Given the description of an element on the screen output the (x, y) to click on. 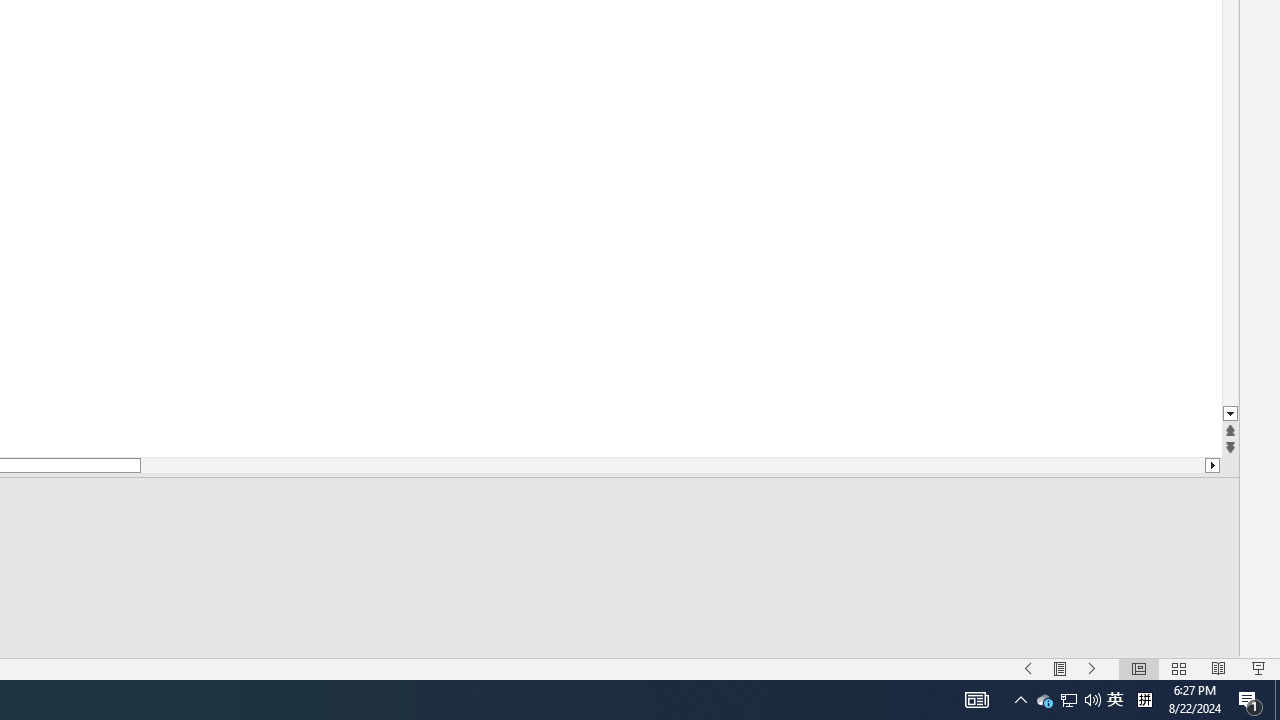
AutomationID: 4105 (976, 699)
Menu On (1060, 668)
Show desktop (1277, 699)
Action Center, 1 new notification (1250, 699)
Notification Chevron (1044, 699)
Q2790: 100% (1020, 699)
User Promoted Notification Area (1092, 699)
Slide Show Previous On (1068, 699)
Slide Show Next On (1028, 668)
Tray Input Indicator - Chinese (Simplified, China) (1092, 668)
